Given the description of an element on the screen output the (x, y) to click on. 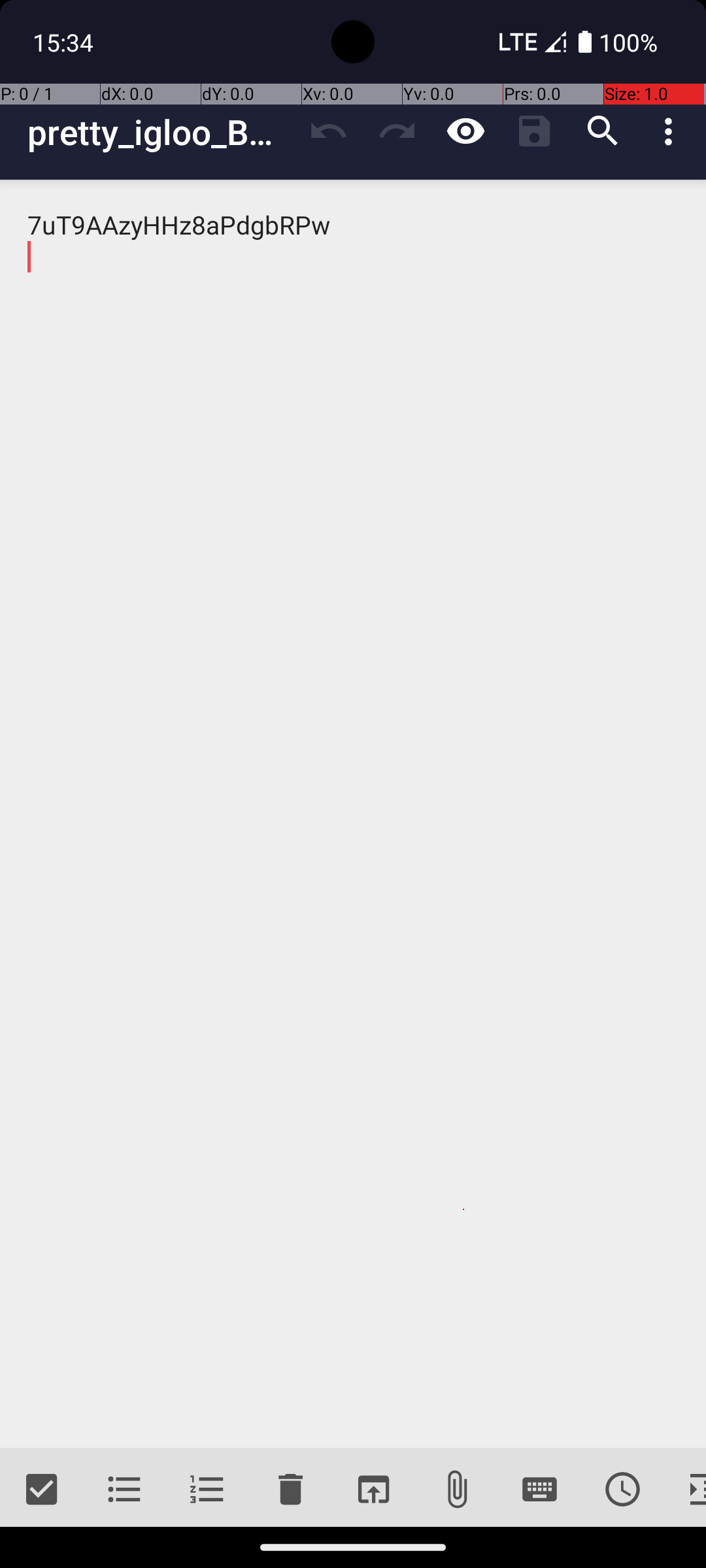
pretty_igloo_BP7P Element type: android.widget.TextView (160, 131)
7uT9AAzyHHz8aPdgbRPw
 Element type: android.widget.EditText (353, 813)
